Given the description of an element on the screen output the (x, y) to click on. 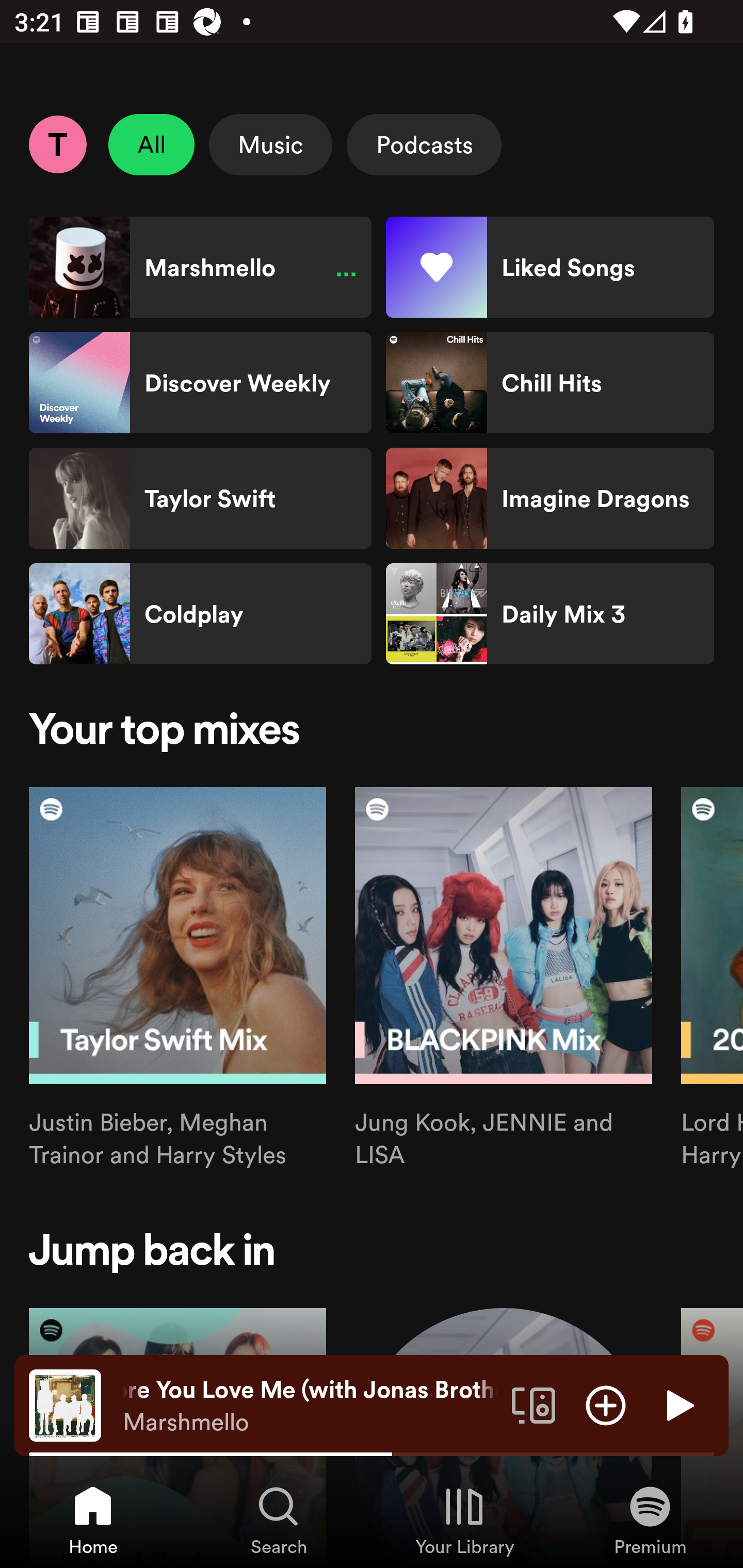
Profile (57, 144)
All Unselect All (151, 144)
Music Select Music (270, 144)
Podcasts Select Podcasts (423, 144)
Marshmello Shortcut Marshmello Paused (199, 267)
Liked Songs Shortcut Liked Songs (549, 267)
Discover Weekly Shortcut Discover Weekly (199, 382)
Chill Hits Shortcut Chill Hits (549, 382)
Taylor Swift Shortcut Taylor Swift (199, 498)
Imagine Dragons Shortcut Imagine Dragons (549, 498)
Coldplay Shortcut Coldplay (199, 613)
Daily Mix 3 Shortcut Daily Mix 3 (549, 613)
The cover art of the currently playing track (64, 1404)
Connect to a device. Opens the devices menu (533, 1404)
Add item (605, 1404)
Play (677, 1404)
